Given the description of an element on the screen output the (x, y) to click on. 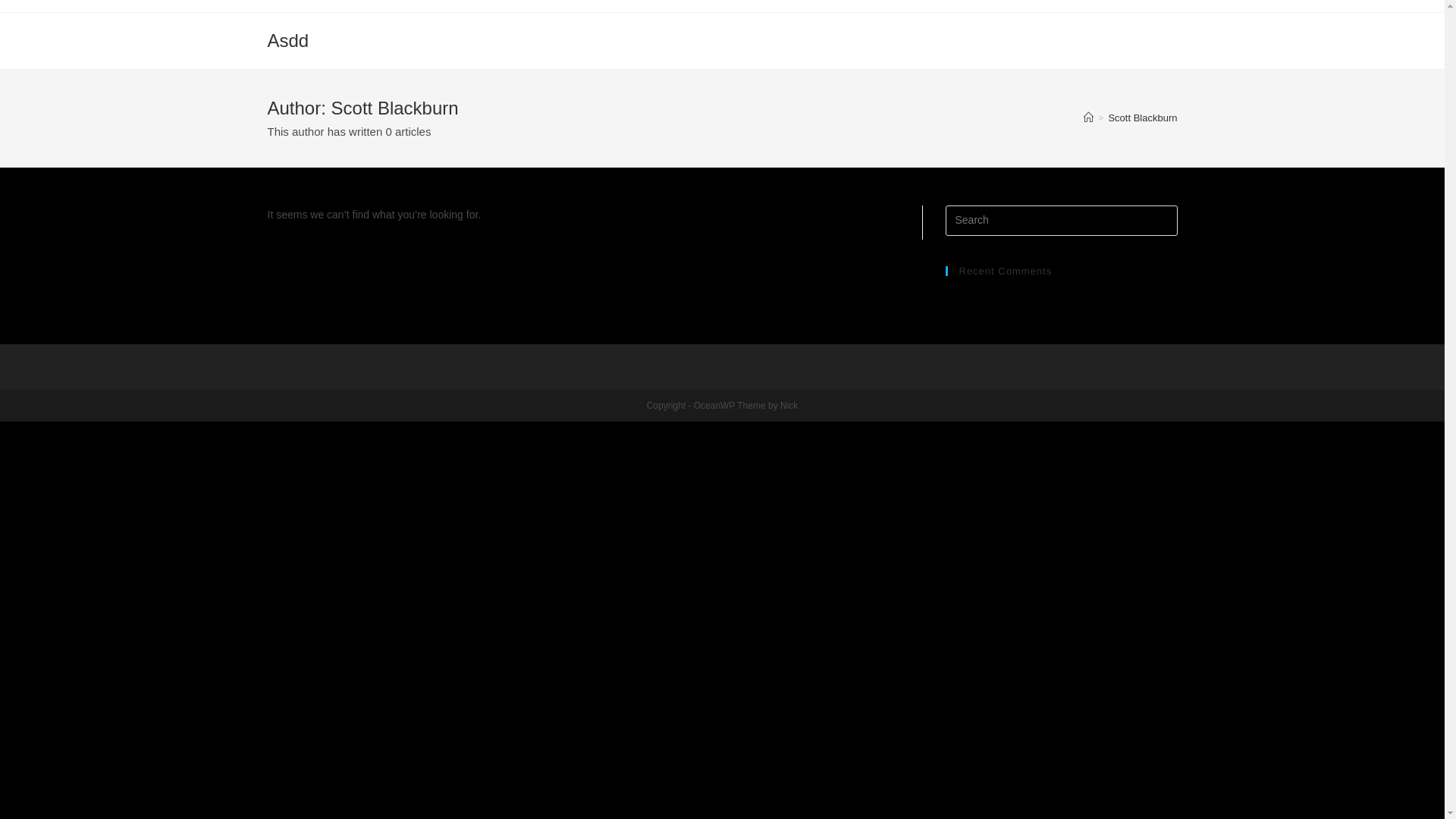
Scott Blackburn Element type: text (1141, 117)
Asdd Element type: text (287, 40)
